Given the description of an element on the screen output the (x, y) to click on. 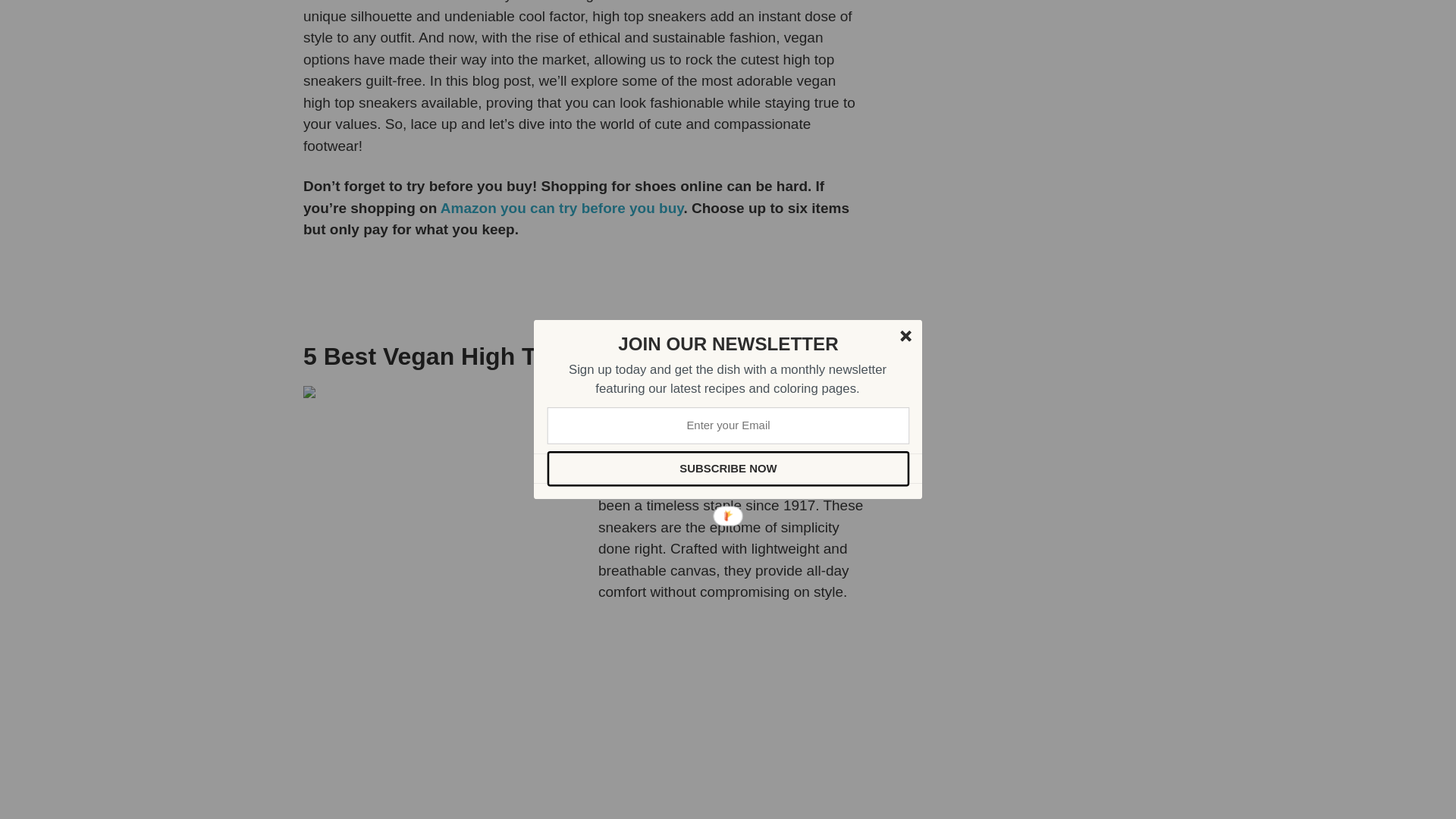
Advertisement (1030, 110)
